Given the description of an element on the screen output the (x, y) to click on. 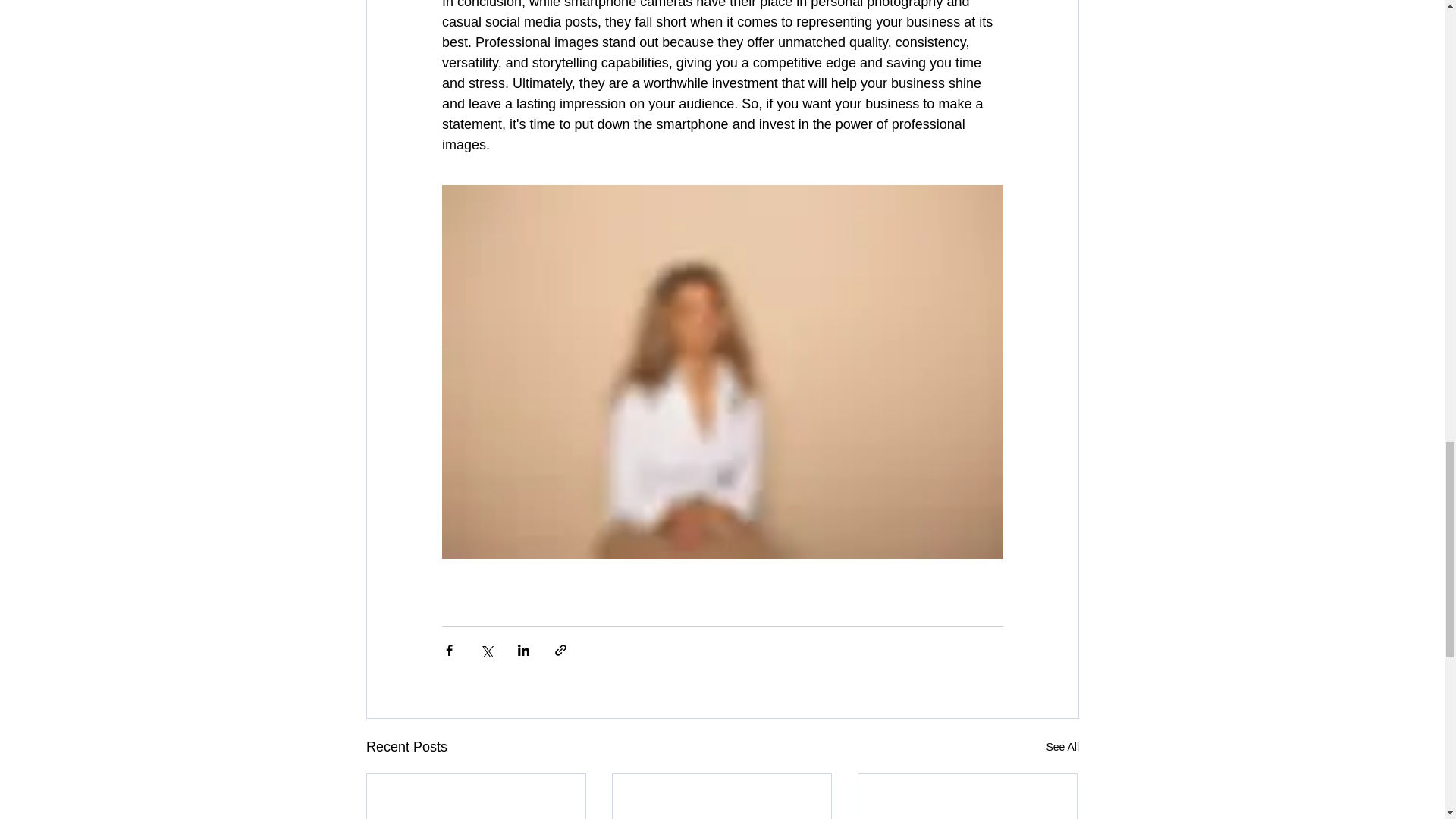
See All (1061, 747)
